Given the description of an element on the screen output the (x, y) to click on. 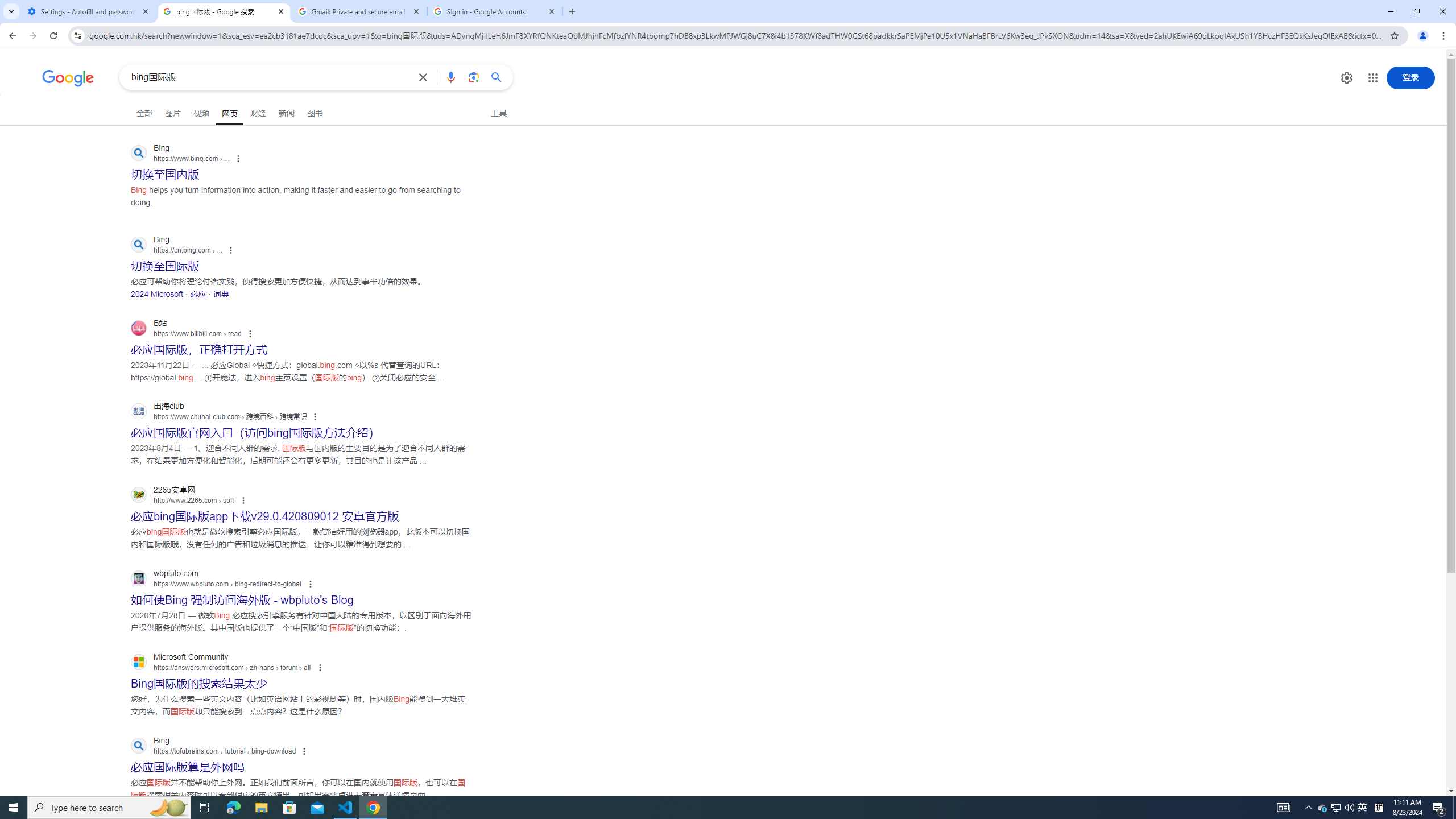
Search tabs (10, 11)
Close (551, 11)
Forward (32, 35)
Minimize (1390, 11)
